Given the description of an element on the screen output the (x, y) to click on. 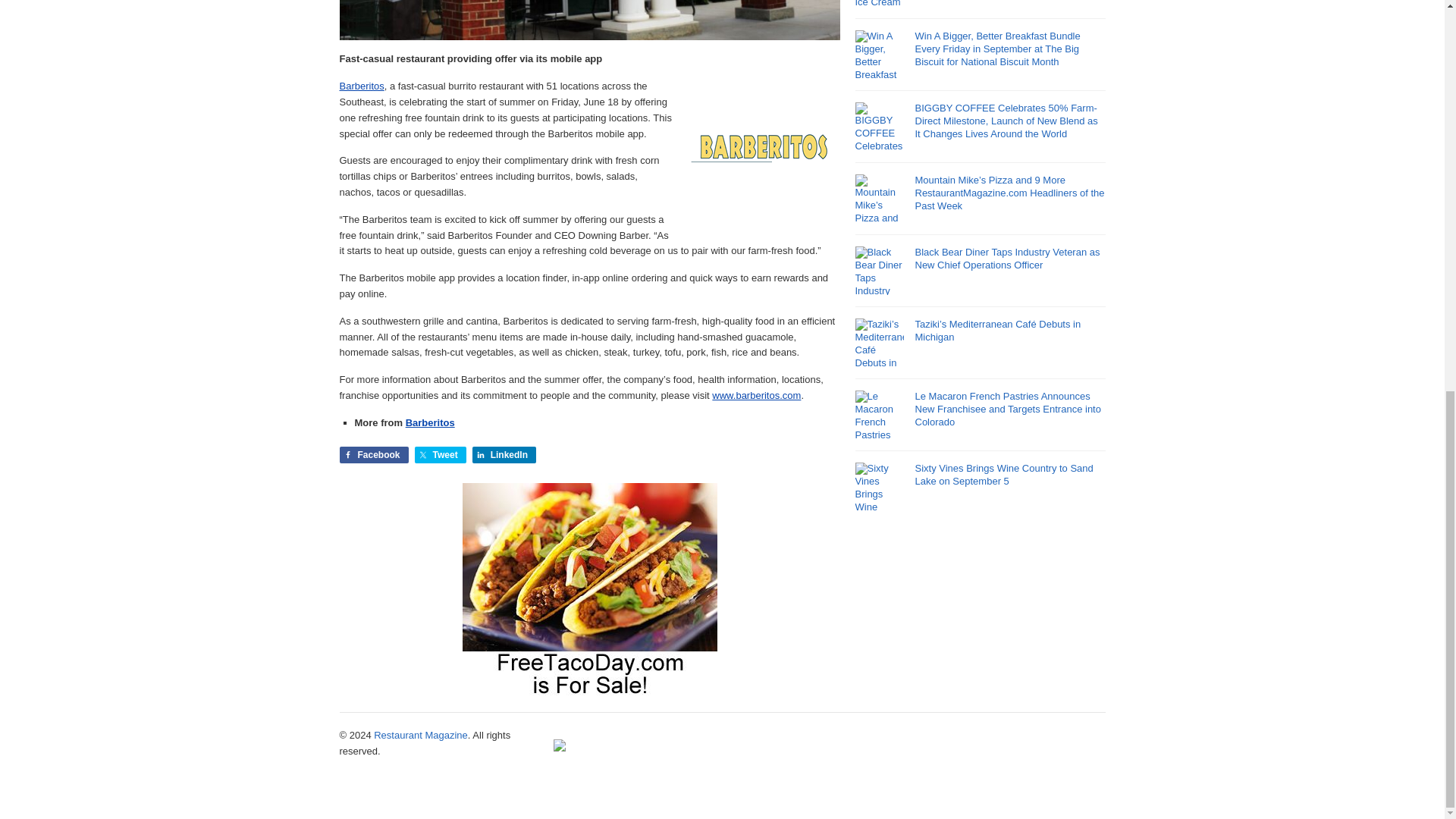
Barberitos Welcomes Summer with Refreshing FREE Drink (589, 20)
Barberitos Southwestern Grille and Cantina (361, 85)
Tweet (439, 454)
FreeTacoDay.com is For Sale! (590, 691)
Barberitos Southwestern Grille and Cantina (755, 395)
Share on Facebook (374, 454)
More from Barberitos (430, 422)
Share on Twitter (439, 454)
Barberitos (361, 85)
www.barberitos.com (755, 395)
